Given the description of an element on the screen output the (x, y) to click on. 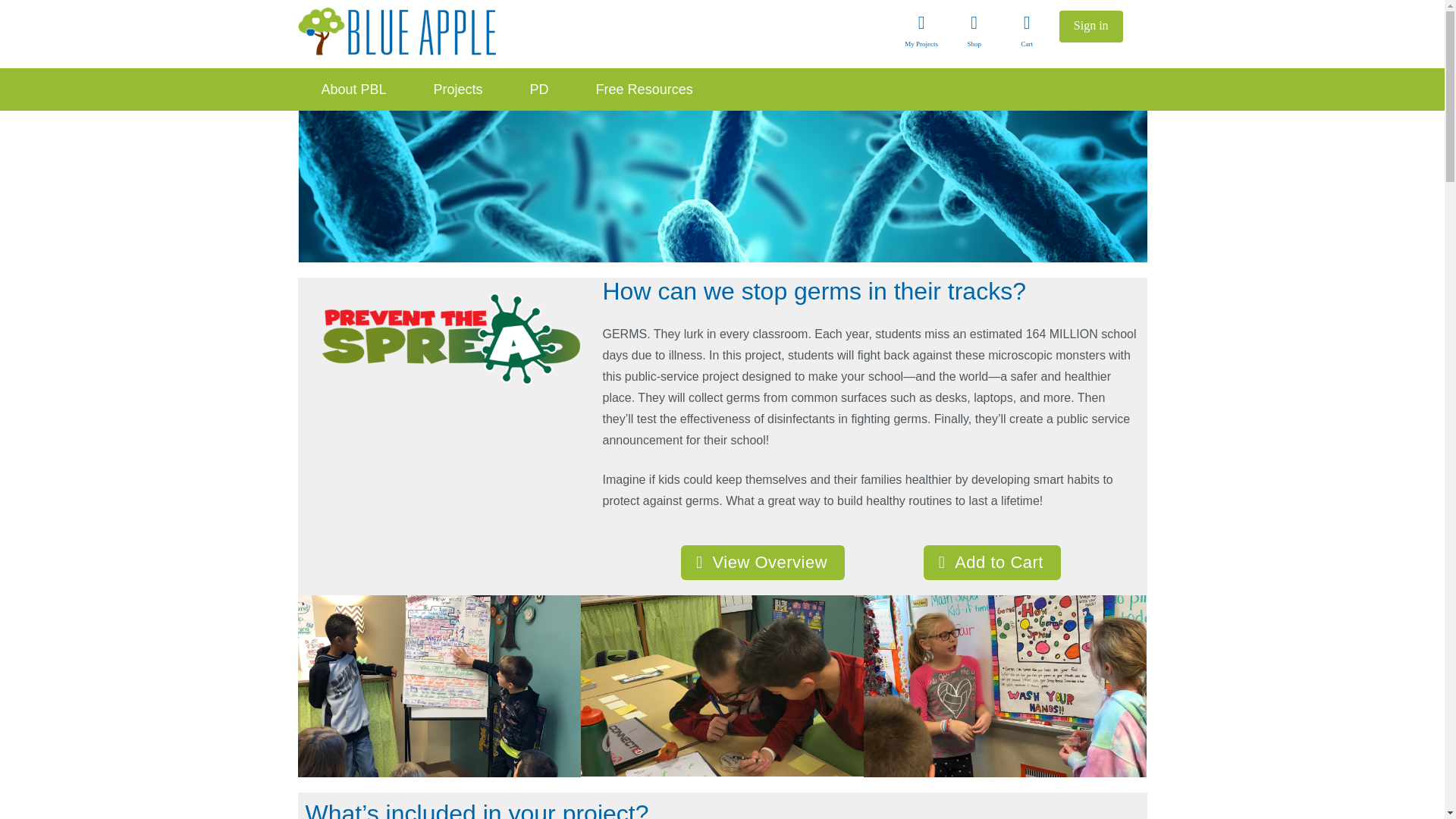
Shop (973, 33)
PD (539, 88)
Projects (458, 88)
Sign in (1090, 26)
My Projects (920, 33)
About PBL (353, 88)
Cart (1026, 33)
Free Resources (644, 88)
